Given the description of an element on the screen output the (x, y) to click on. 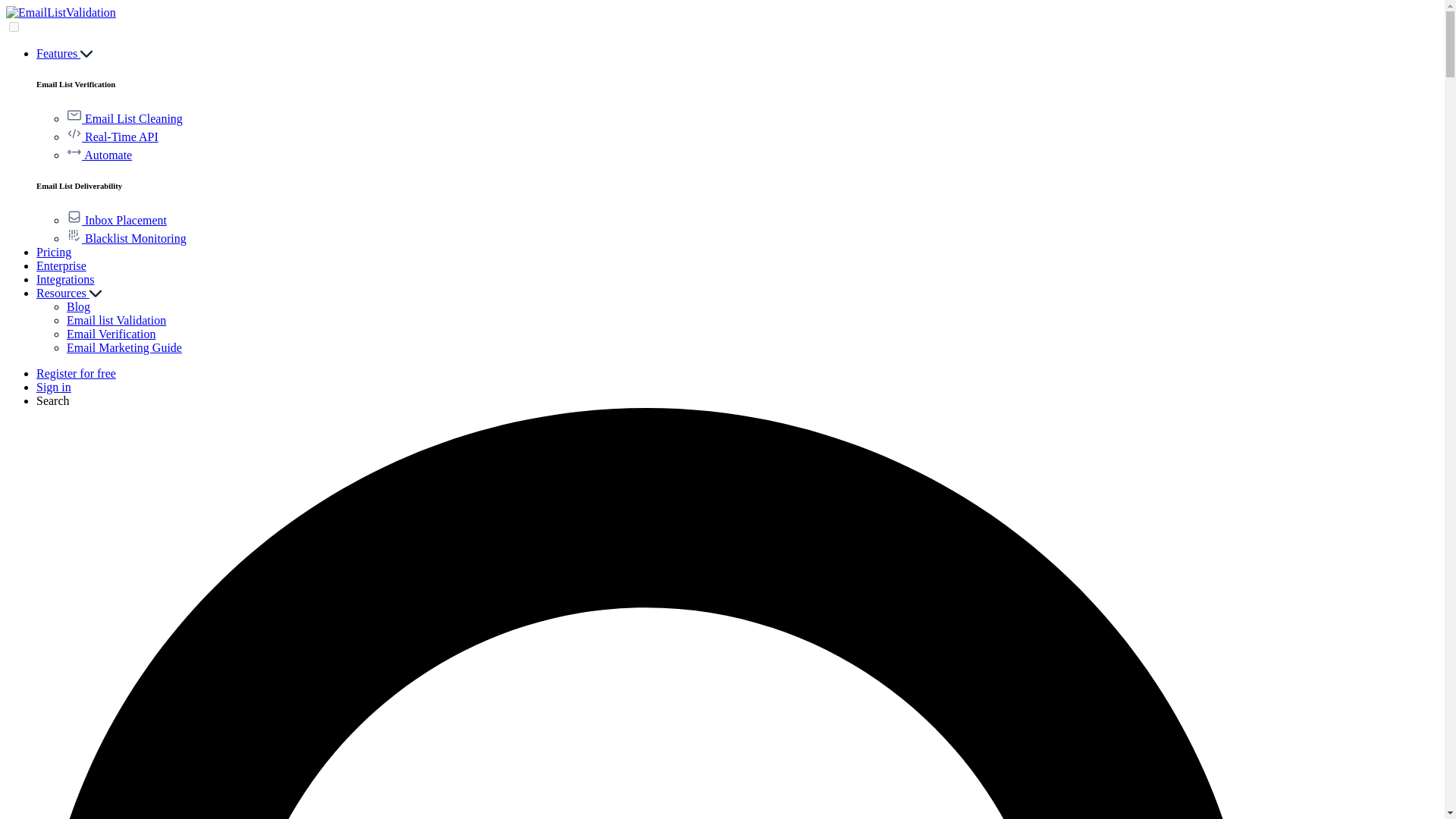
Integrations (65, 278)
Pricing (53, 251)
Blacklist Monitoring (126, 237)
Automate (99, 154)
Features (64, 52)
Real-Time API (112, 136)
Email Marketing Guide (124, 347)
Email List Cleaning (124, 118)
Register for free (76, 373)
Inbox Placement (116, 219)
Email list Validation (115, 319)
Resources (68, 292)
Enterprise (60, 265)
Sign in (53, 386)
on (13, 26)
